Given the description of an element on the screen output the (x, y) to click on. 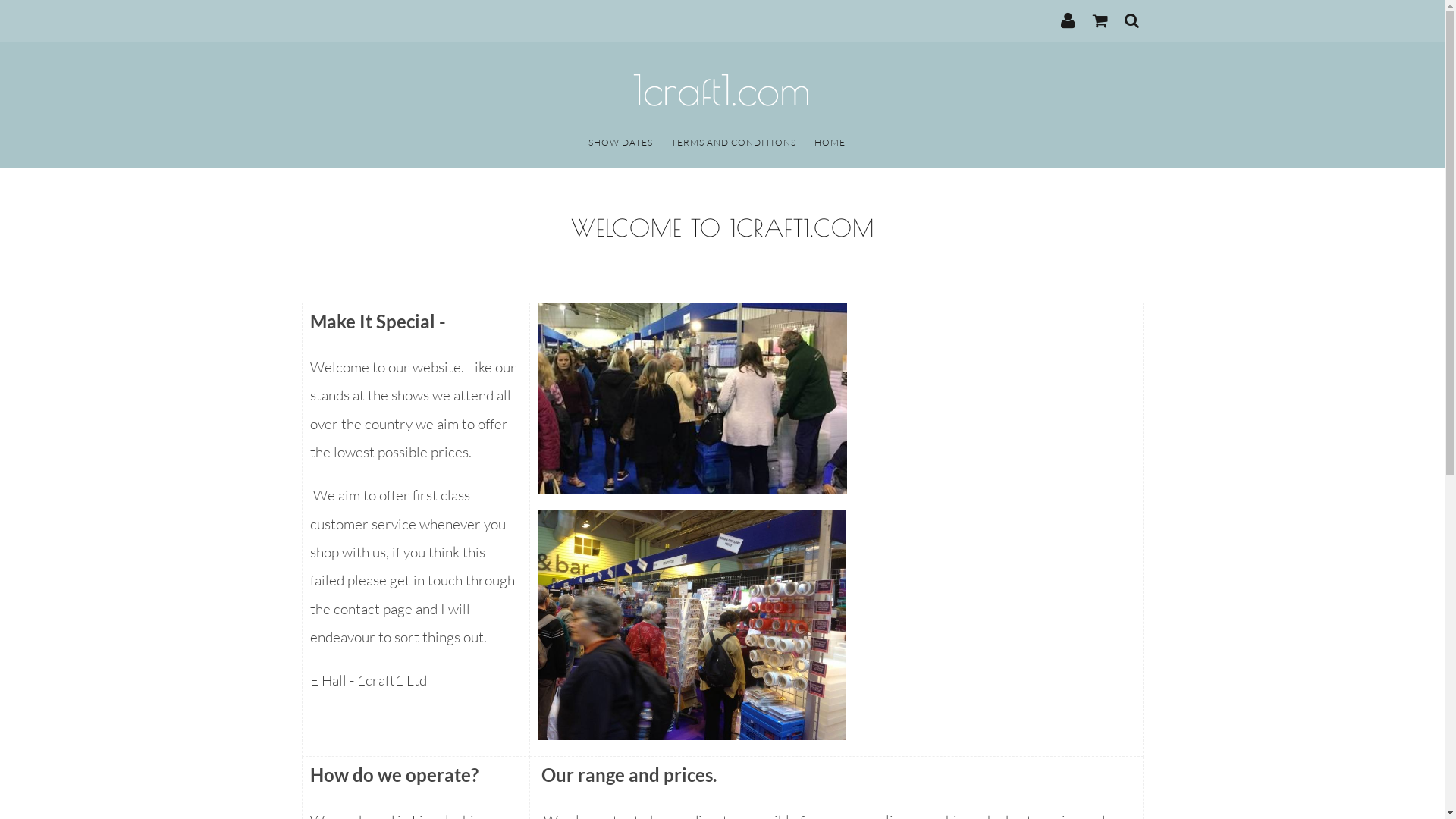
Main IMG Element type: hover (691, 397)
SHOW DATES Element type: text (620, 141)
1craft1.com Element type: text (722, 90)
image Element type: hover (690, 624)
TERMS AND CONDITIONS Element type: text (732, 141)
HOME Element type: text (829, 141)
